Given the description of an element on the screen output the (x, y) to click on. 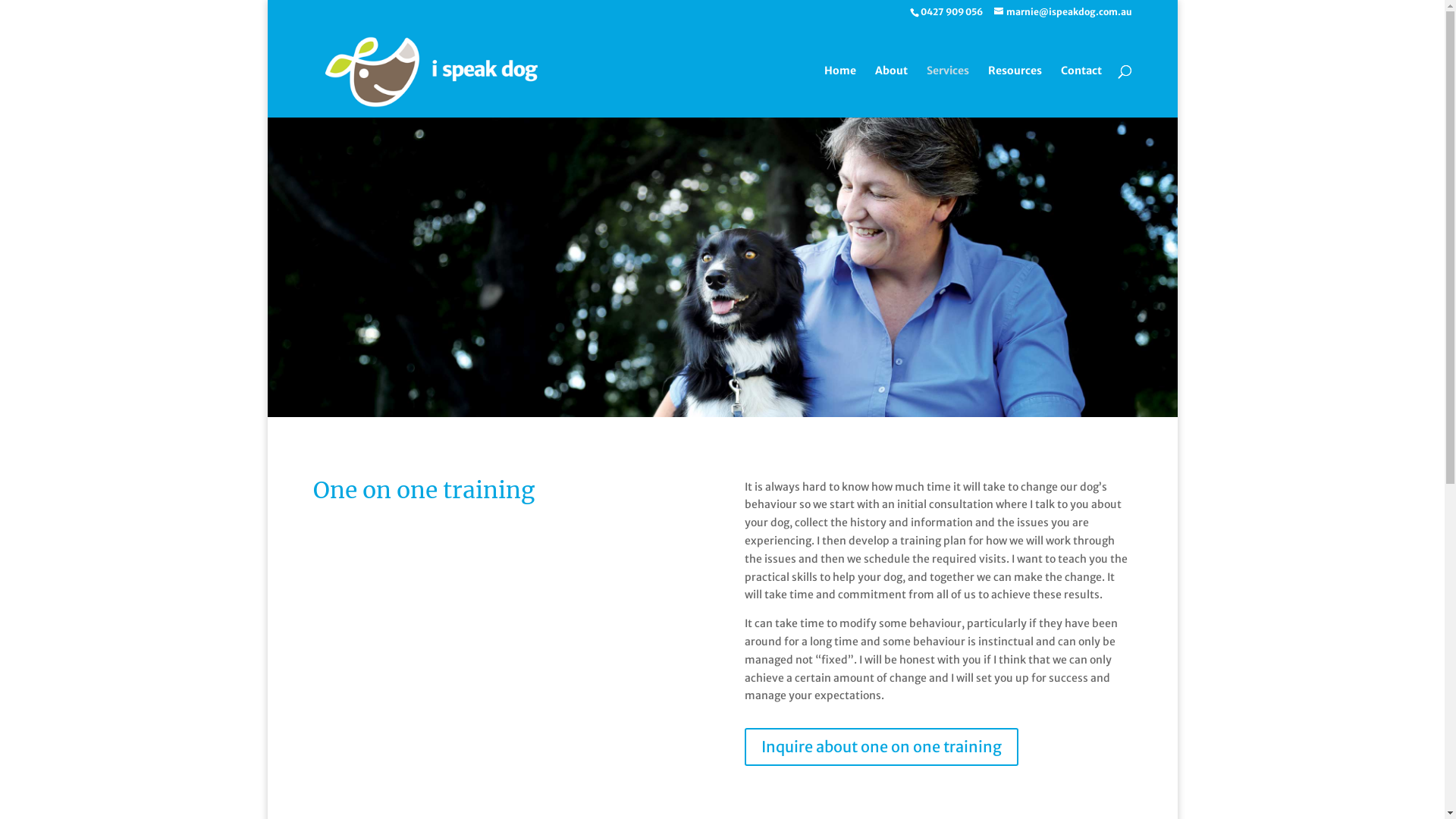
0427 909 056 Element type: text (951, 11)
About Element type: text (891, 91)
Contact Element type: text (1080, 91)
Inquire about one on one training Element type: text (881, 746)
Resources Element type: text (1014, 91)
Services Element type: text (947, 91)
marnie@ispeakdog.com.au Element type: text (1062, 11)
Home Element type: text (839, 91)
